Given the description of an element on the screen output the (x, y) to click on. 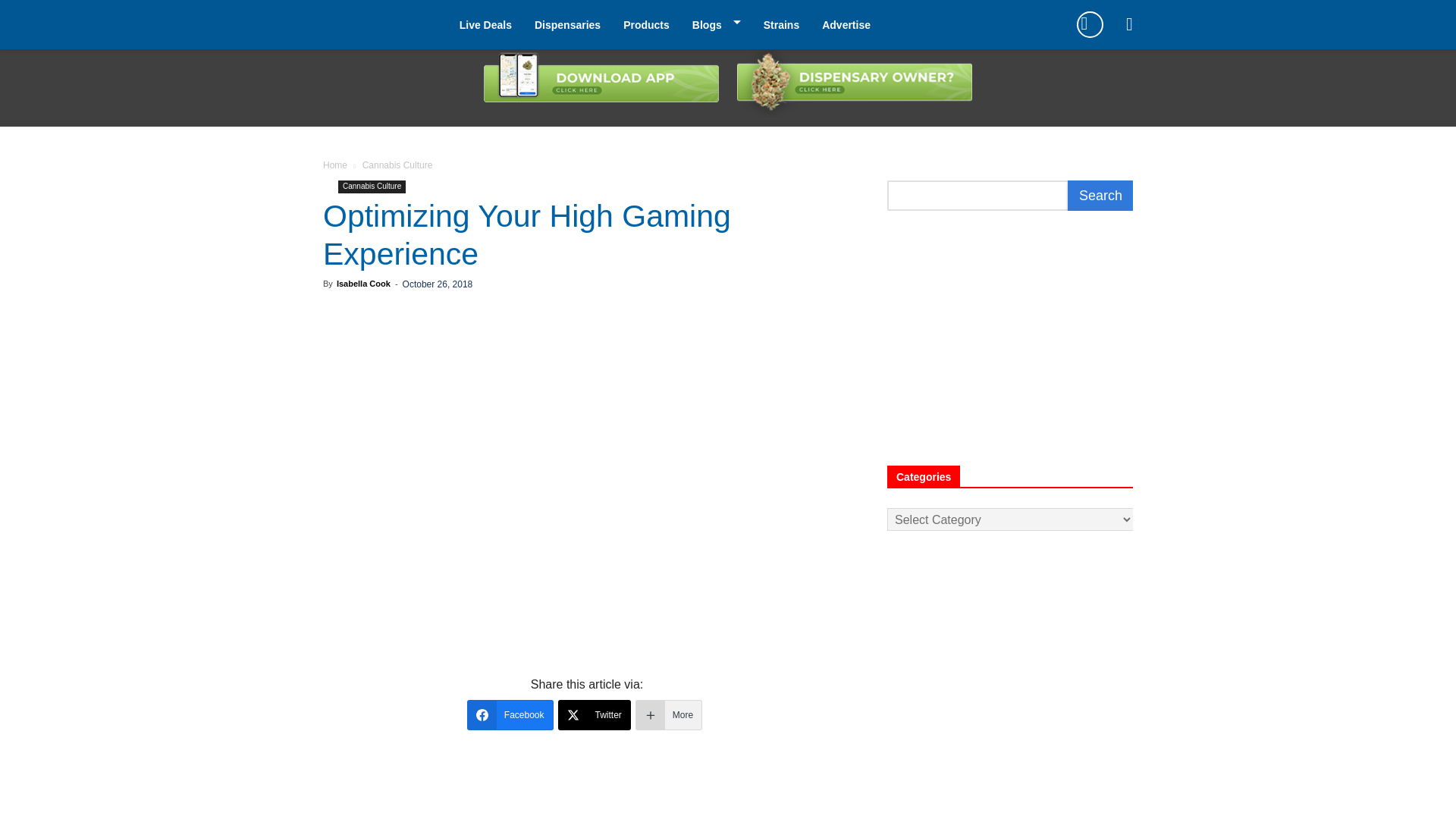
Live Deals (486, 24)
Home (335, 164)
More (667, 715)
Blogs (707, 24)
Strains (780, 24)
Cannabis Culture (371, 186)
Dispensaries (566, 24)
Products (646, 24)
Advertise (846, 24)
Isabella Cook (363, 283)
Twitter (593, 715)
Search (1100, 195)
Facebook (510, 715)
